Given the description of an element on the screen output the (x, y) to click on. 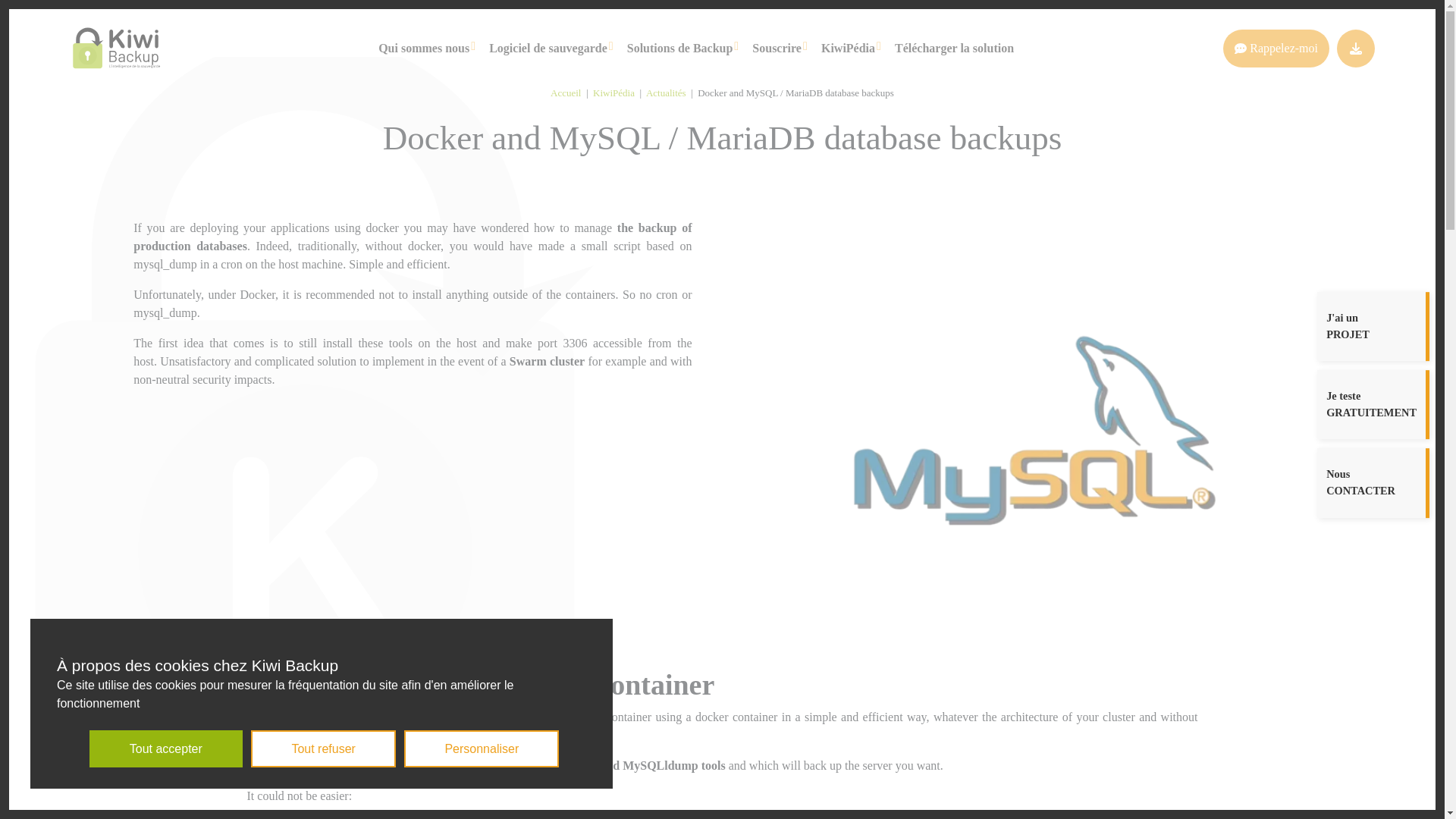
Solutions de Backup (680, 47)
Tout refuser (323, 748)
Personnaliser (481, 748)
Qui sommes nous (423, 47)
Logiciel de sauvegarde (548, 47)
Tout accepter (165, 748)
